Given the description of an element on the screen output the (x, y) to click on. 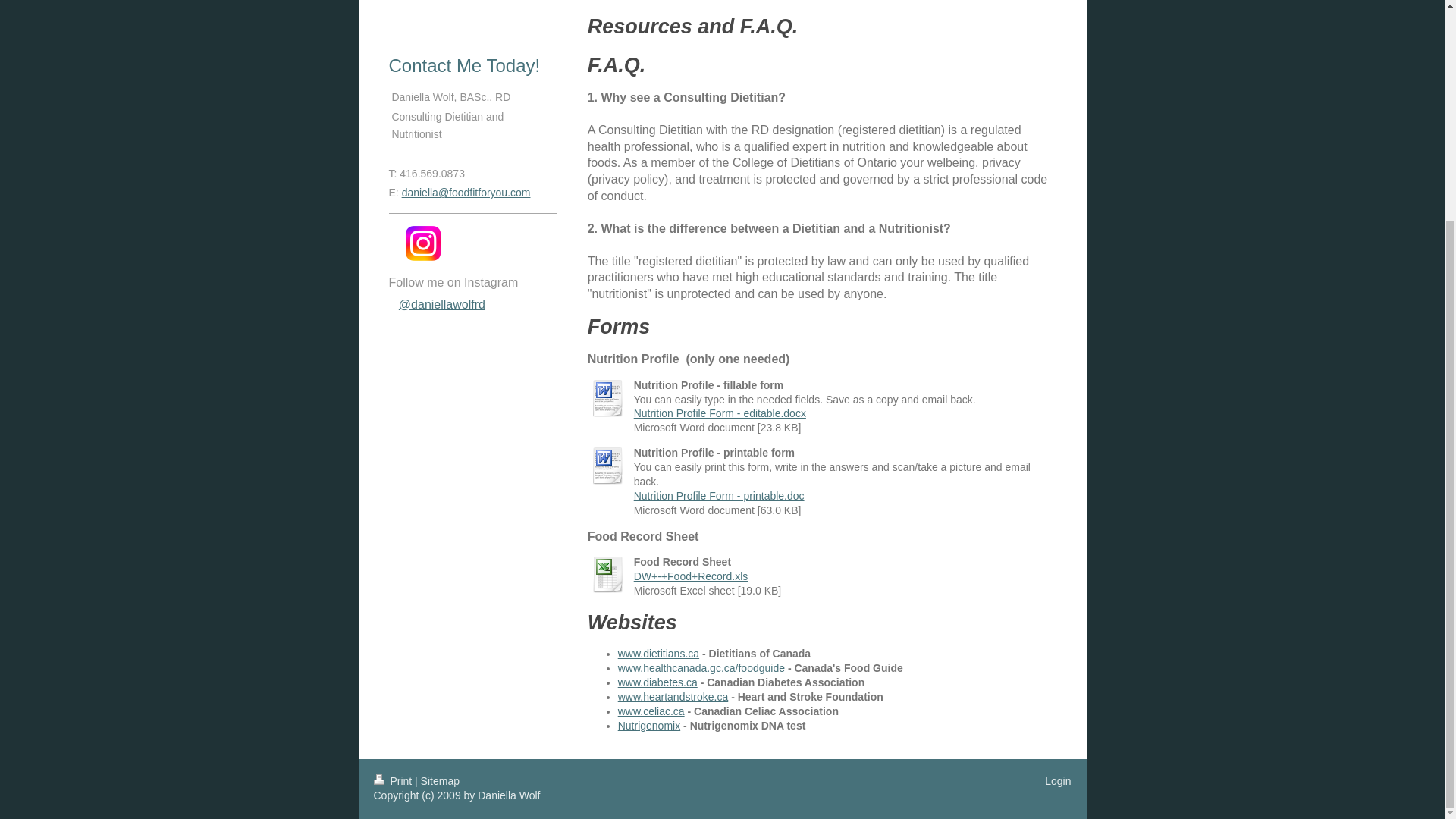
Nutrition Profile Form - editable.docx (719, 413)
www.celiac.ca (650, 711)
Print (393, 780)
www.heartandstroke.ca (673, 696)
www.dietitians.ca (657, 653)
www.diabetes.ca (657, 682)
Login (1057, 780)
Sitemap (440, 780)
Nutrition Profile Form - printable.doc (719, 495)
Nutrigenomix (648, 725)
